Given the description of an element on the screen output the (x, y) to click on. 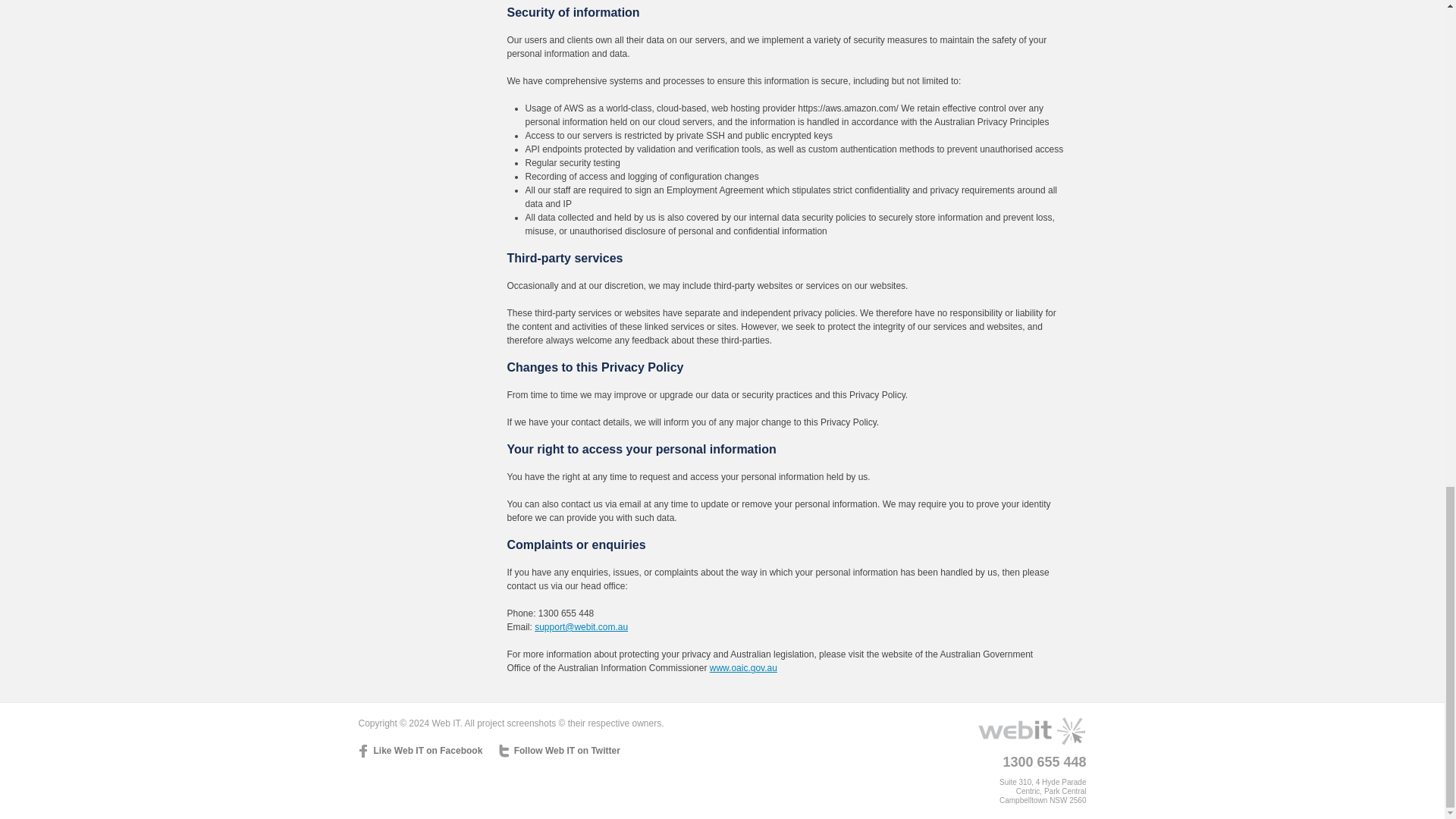
Follow Web IT on Twitter (559, 750)
Like Web IT on Facebook (419, 750)
www.oaic.gov.au (743, 667)
Like Web IT on Facebook (419, 750)
Follow Web IT on Twitter (559, 750)
